Given the description of an element on the screen output the (x, y) to click on. 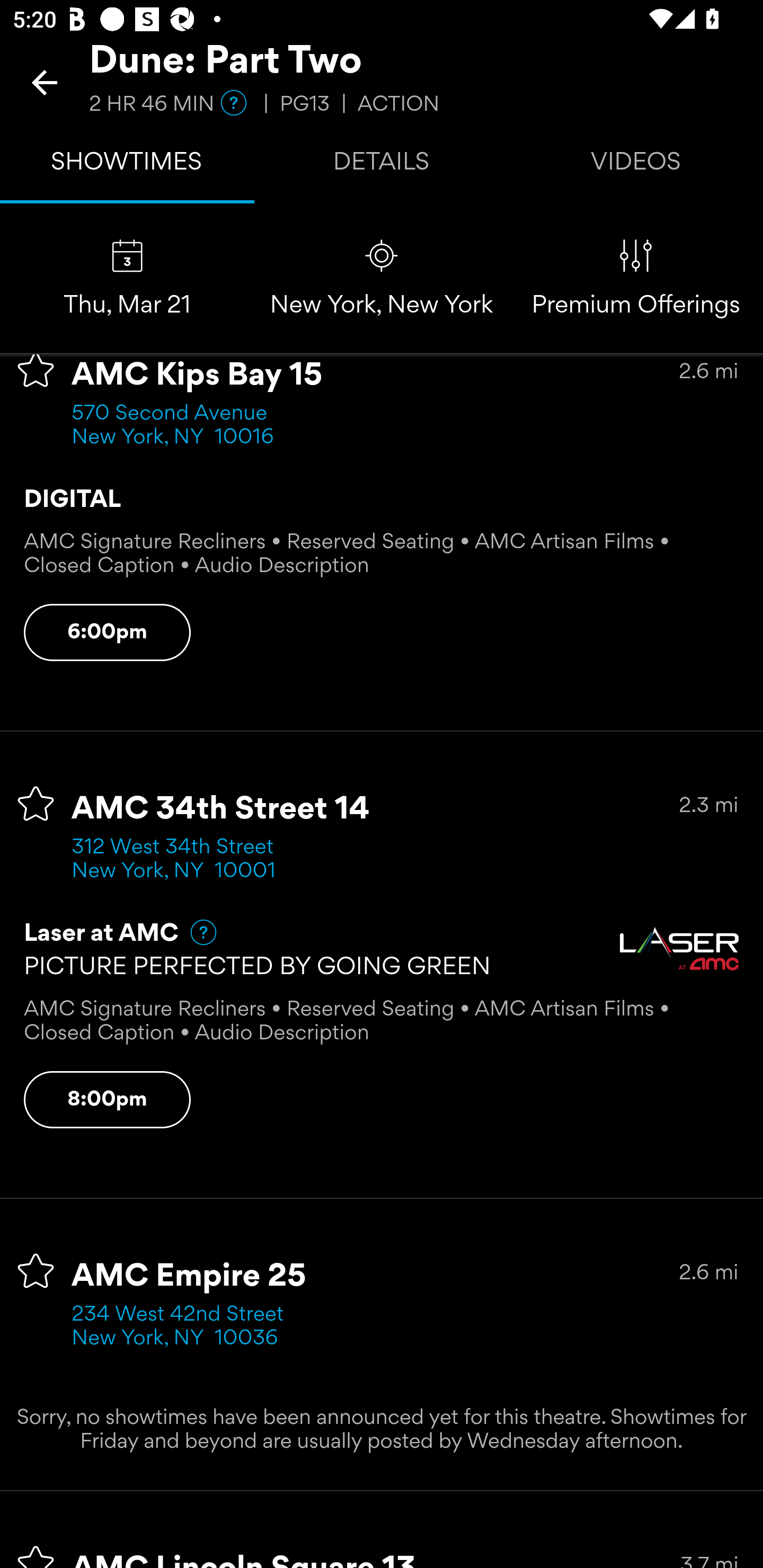
Back (44, 82)
SHOWTIMES
Tab 1 of 3 (127, 165)
DETAILS
Tab 2 of 3 (381, 165)
VIDEOS
Tab 3 of 3 (635, 165)
Change selected day
Thu, Mar 21 (127, 279)
Change location
New York, New York (381, 279)
Premium Offerings
Premium Offerings (635, 279)
AMC Kips Bay 15 (196, 375)
570 Second Avenue  
New York, NY  10016 (175, 425)
AMC Kips Bay 15 DIGITAL 6:00pm Showtime Button (106, 632)
AMC 34th Street 14 (220, 809)
312 West 34th Street  
New York, NY  10001 (178, 859)
Help (195, 931)
AMC Empire 25 (188, 1277)
234 West 42nd Street  
New York, NY  10036 (183, 1326)
